Given the description of an element on the screen output the (x, y) to click on. 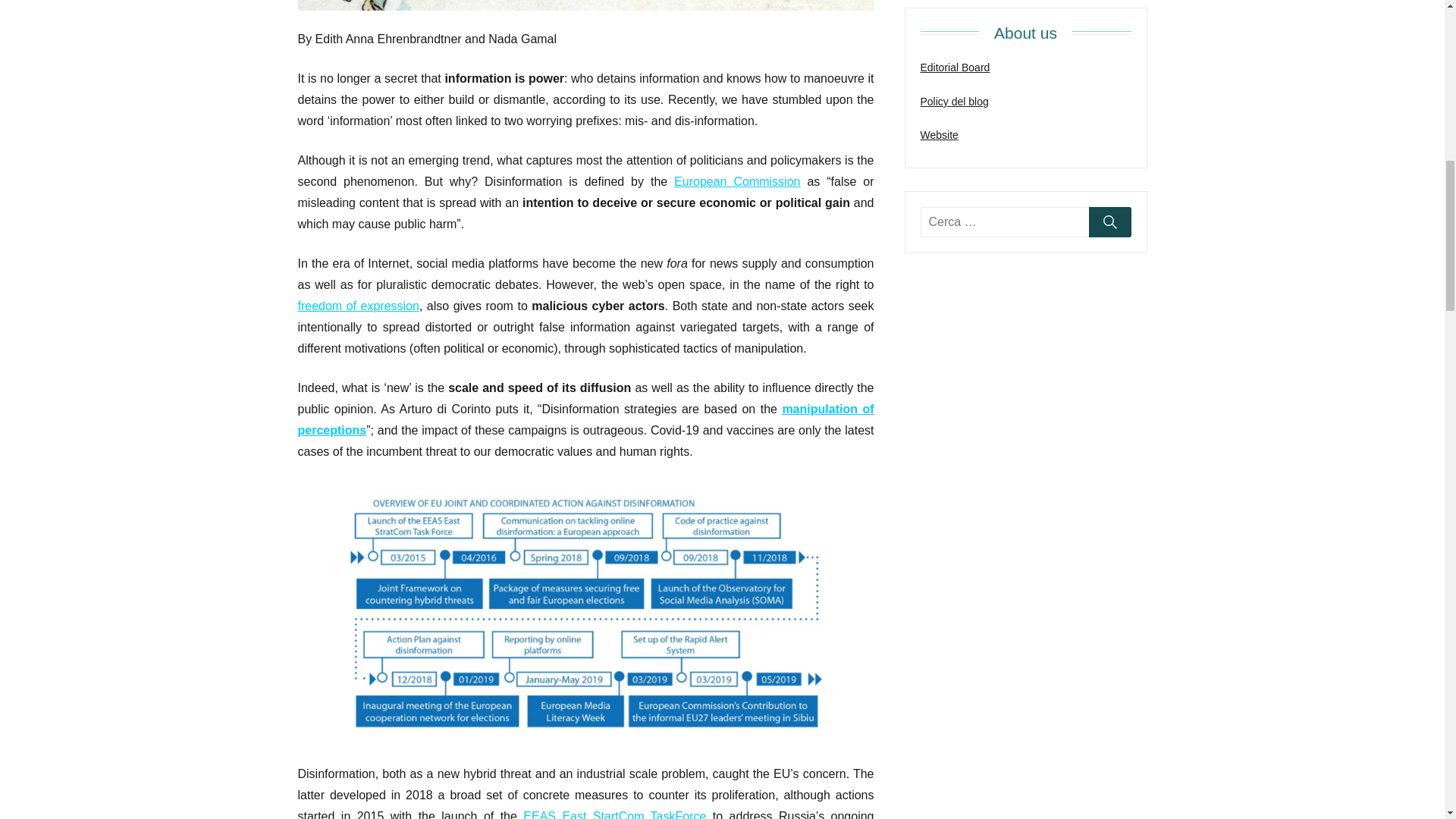
European Commission (736, 181)
manipulation of perceptions (585, 419)
freedom of expression (358, 305)
EEAS East StartCom TaskForce (614, 814)
